Given the description of an element on the screen output the (x, y) to click on. 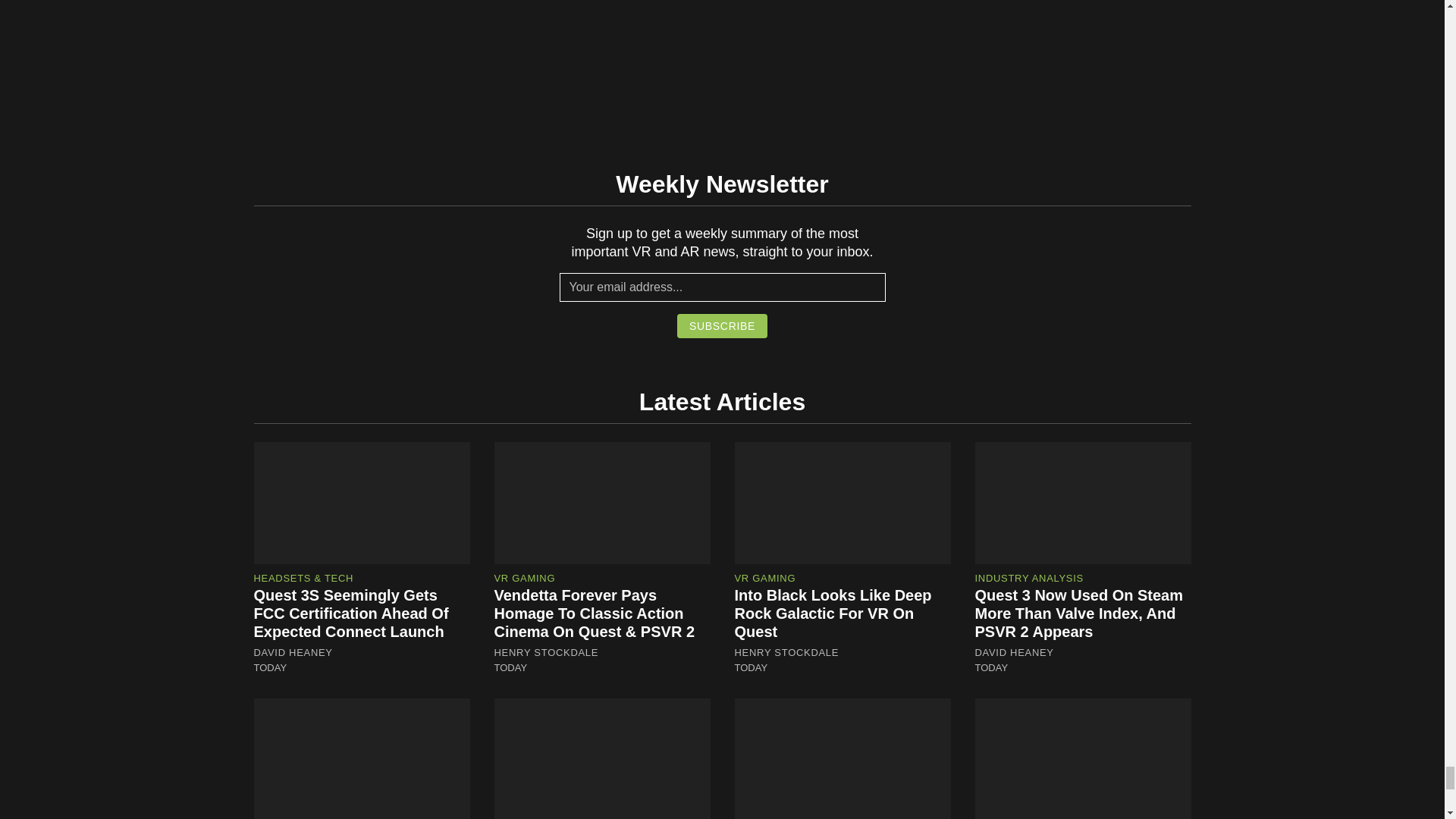
Latest Articles (722, 401)
Subscribe (722, 325)
Subscribe (722, 325)
HENRY STOCKDALE (546, 653)
DAVID HEANEY (292, 653)
VR GAMING (525, 577)
